Given the description of an element on the screen output the (x, y) to click on. 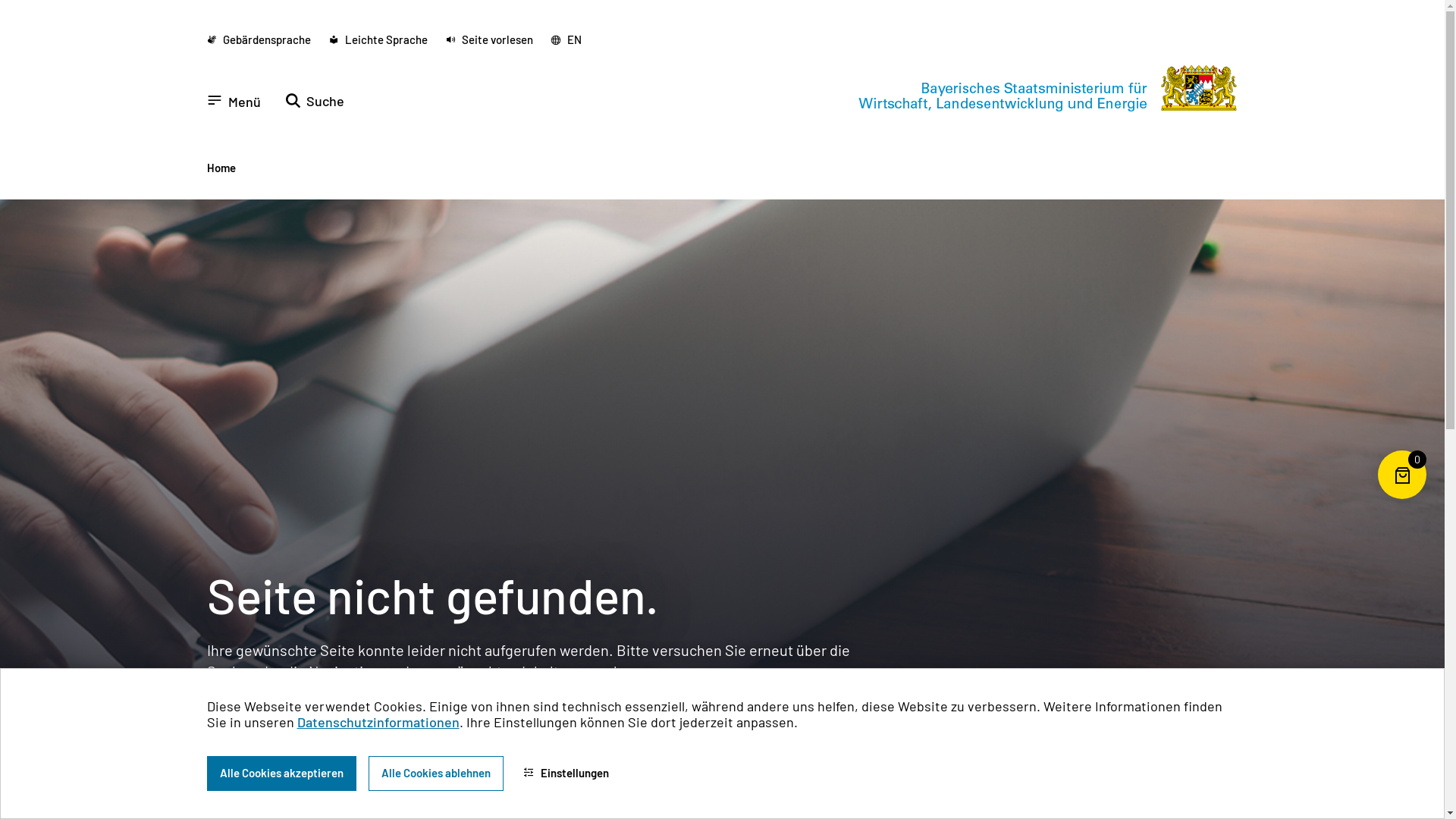
Datenschutzinformationen Element type: text (378, 722)
Suche Element type: text (314, 100)
Seite vorlesen Element type: text (489, 40)
Fragen? Anregungen? Kritik? Schreiben Sie uns. Element type: text (365, 725)
0 Element type: text (1401, 498)
Alle Cookies ablehnen Element type: text (435, 773)
EN Element type: text (565, 40)
Alle Cookies akzeptieren Element type: text (280, 773)
Einstellungen Element type: text (565, 773)
Leichte Sprache Element type: text (378, 40)
Home Element type: text (220, 167)
